Given the description of an element on the screen output the (x, y) to click on. 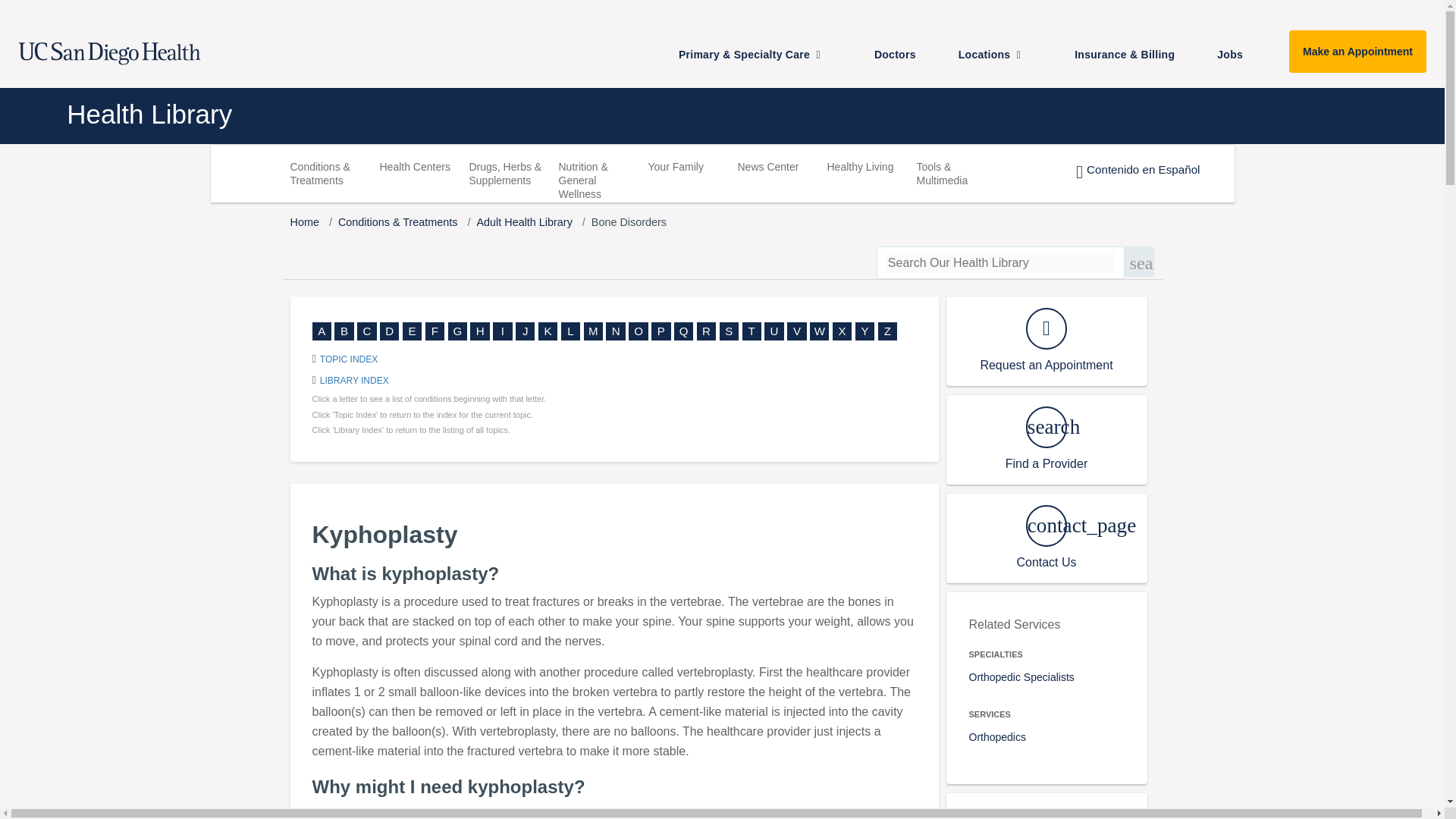
Locations   (1000, 54)
Health Library (603, 114)
Doctors (901, 54)
Make an Appointment (1357, 51)
Jobs (1236, 54)
Doctors (901, 54)
